Given the description of an element on the screen output the (x, y) to click on. 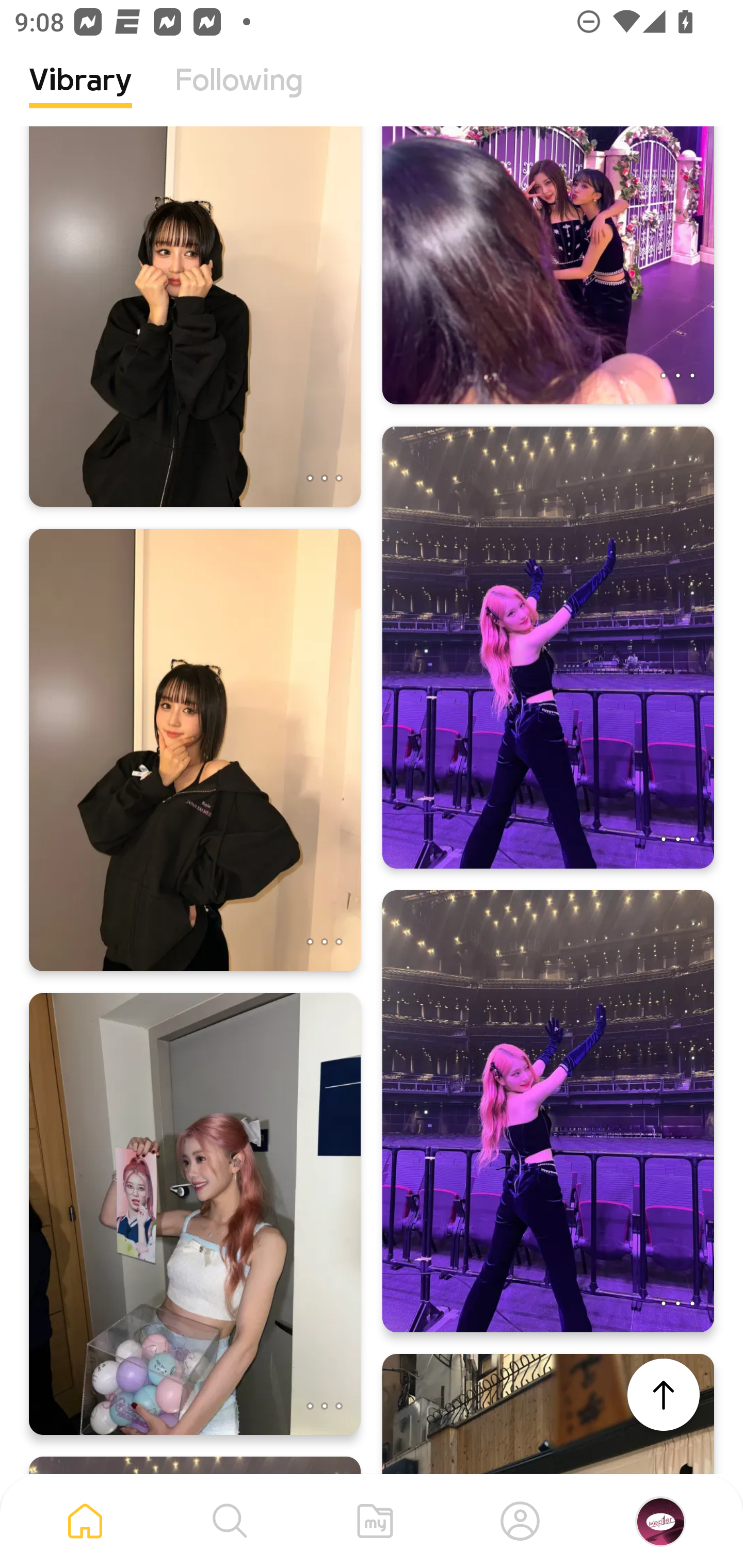
Vibrary (80, 95)
Following (239, 95)
